Given the description of an element on the screen output the (x, y) to click on. 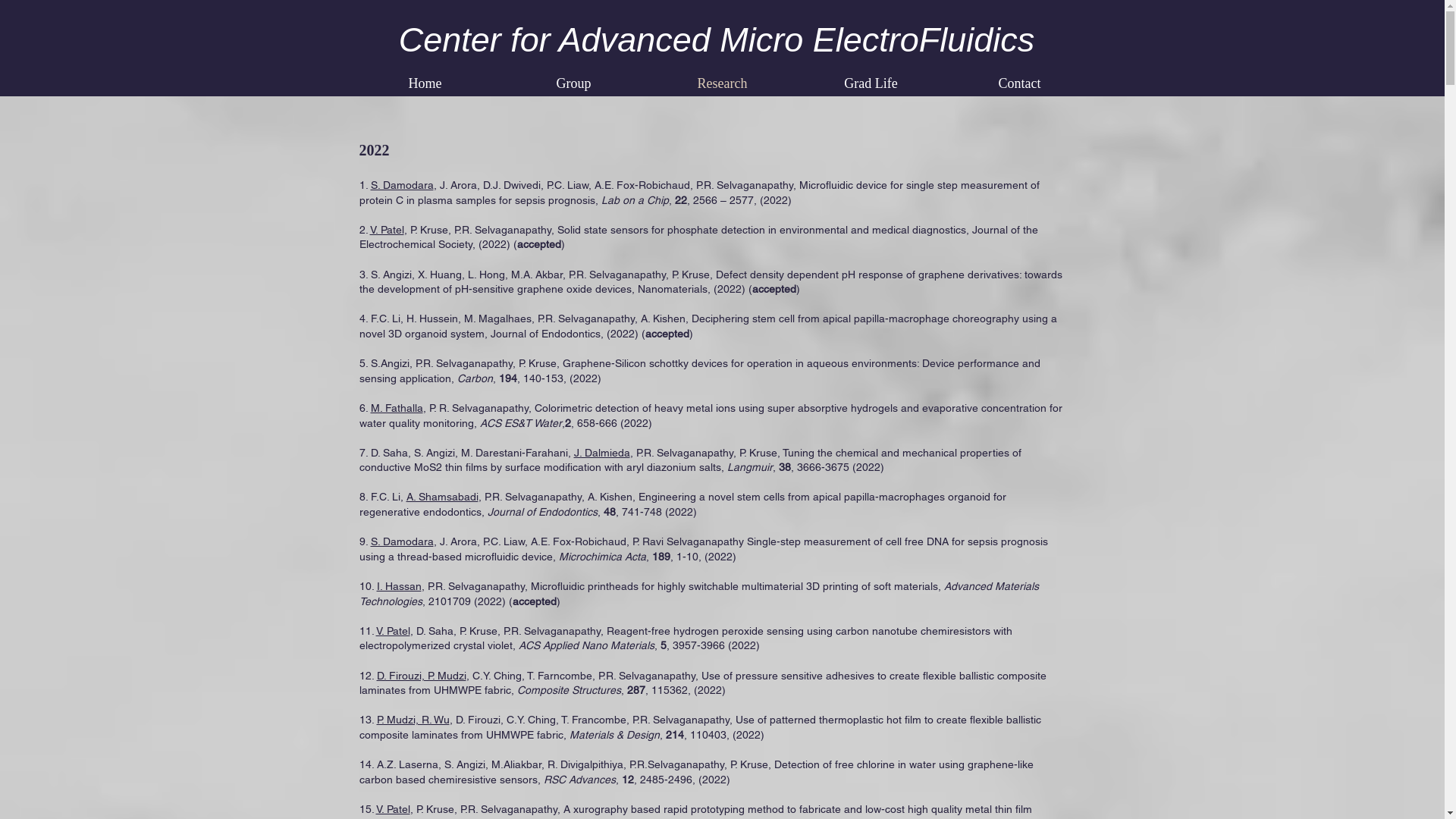
Home Element type: text (424, 83)
Research Element type: text (721, 83)
Grad Life Element type: text (870, 83)
Contact Element type: text (1018, 83)
Group Element type: text (572, 83)
Center for Advanced Micro ElectroFluidics Element type: text (716, 39)
